Given the description of an element on the screen output the (x, y) to click on. 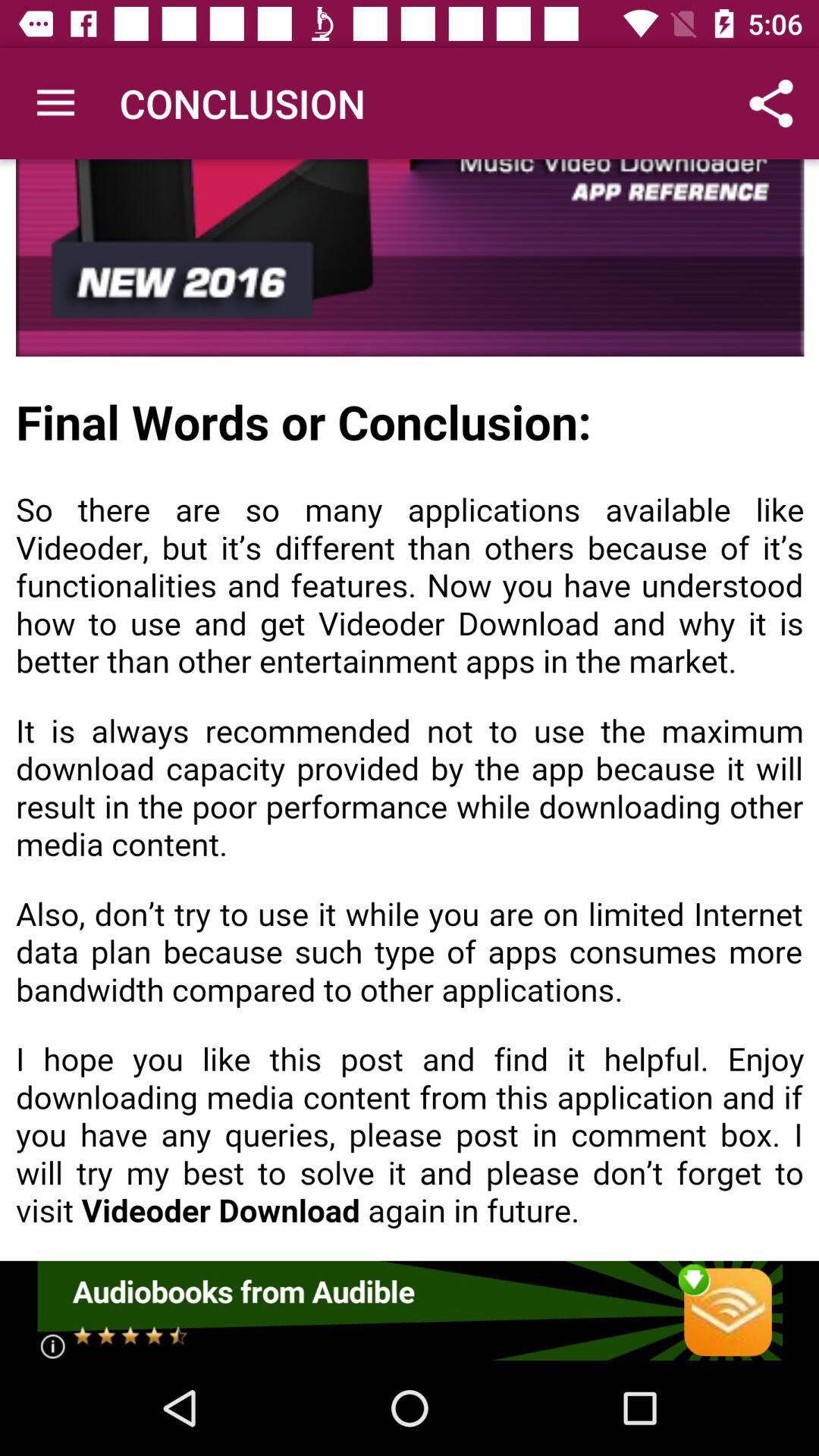
advertisement in the bottom (408, 1310)
